Given the description of an element on the screen output the (x, y) to click on. 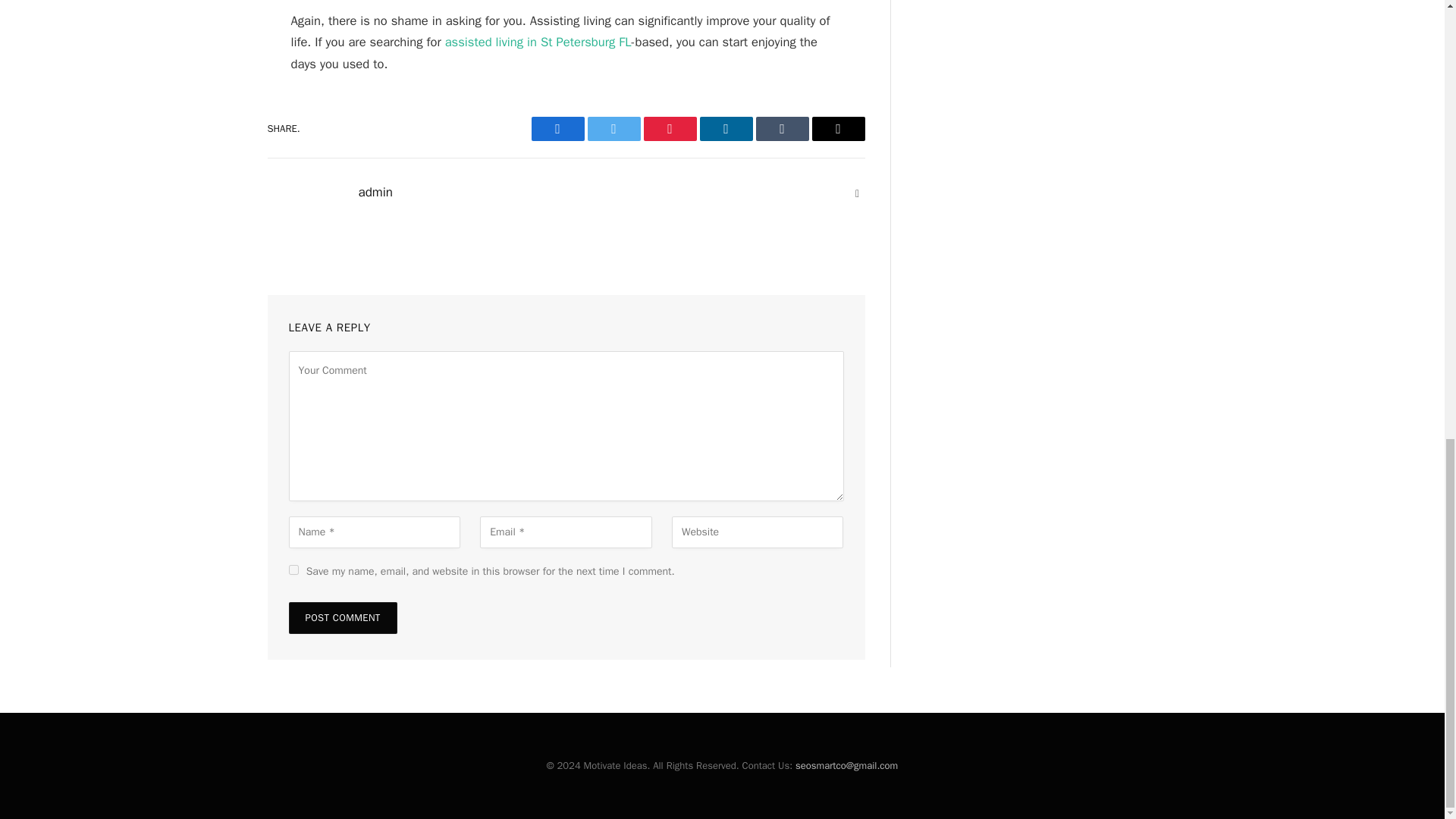
Post Comment (342, 617)
assisted living in St Petersburg FL (538, 41)
yes (293, 569)
Facebook (557, 128)
